Given the description of an element on the screen output the (x, y) to click on. 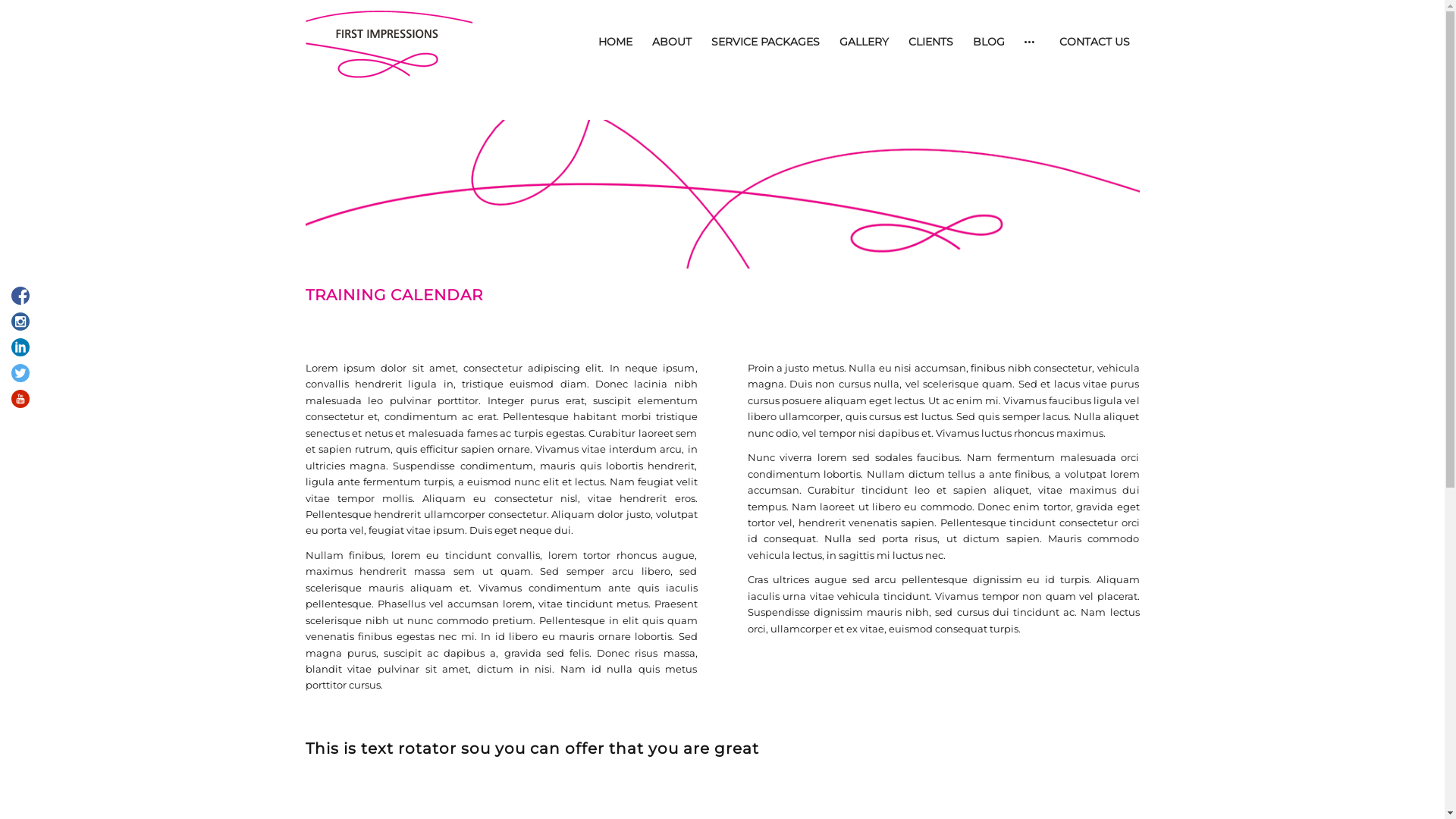
CLIENTS Element type: text (929, 41)
Favicon Logo Element type: hover (721, 202)
CONTACT US Element type: text (1094, 41)
HOME Element type: text (615, 41)
ABOUT Element type: text (670, 41)
first impression-logo Element type: hover (387, 41)
GALLERY Element type: text (863, 41)
BLOG Element type: text (988, 41)
SERVICE PACKAGES Element type: text (764, 41)
